Given the description of an element on the screen output the (x, y) to click on. 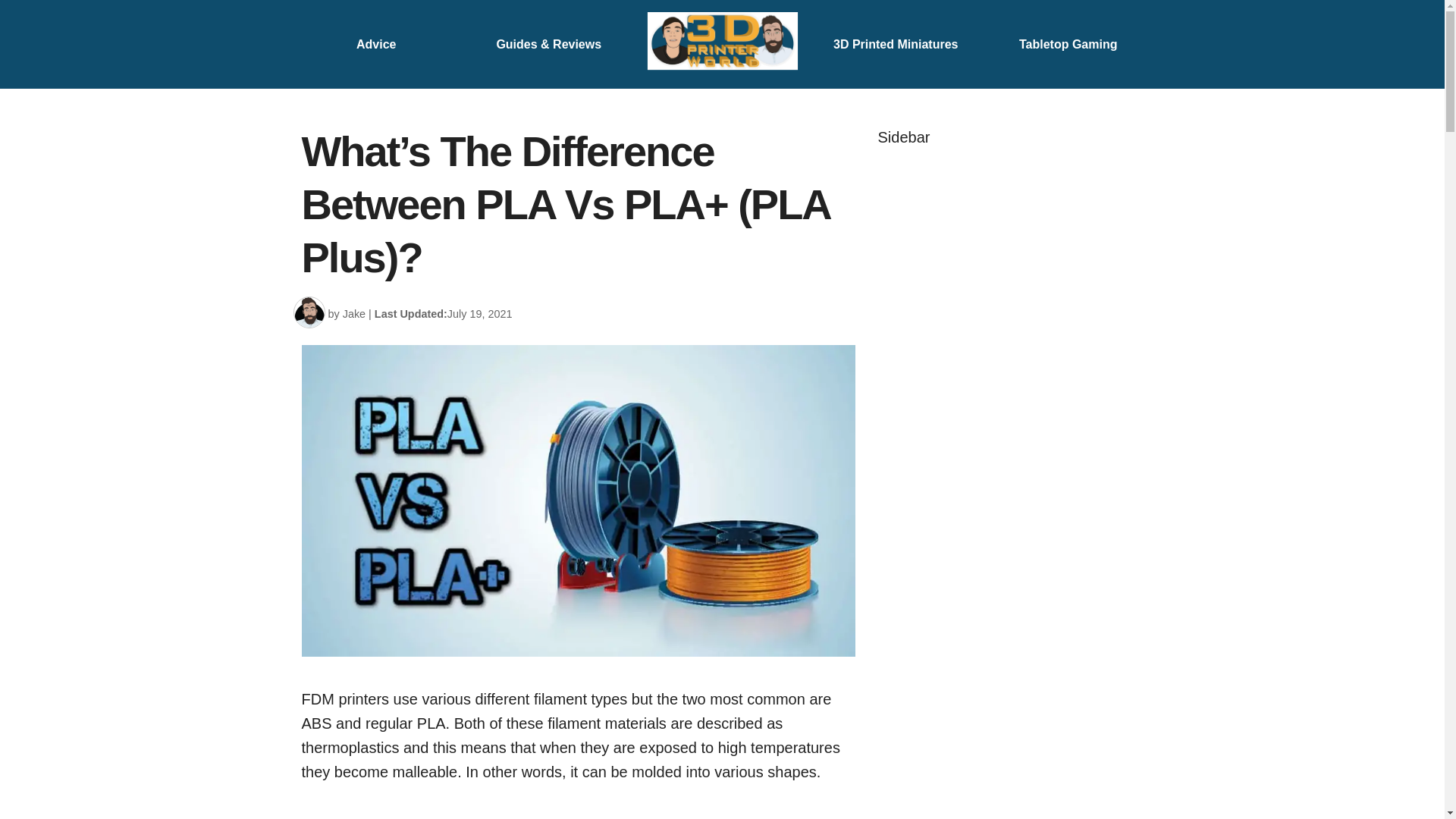
Advice Element type: text (375, 43)
Logo Element type: hover (722, 44)
3D Printed Miniatures Element type: text (895, 43)
Guides & Reviews Element type: text (548, 43)
Tabletop Gaming Element type: text (1068, 43)
